Given the description of an element on the screen output the (x, y) to click on. 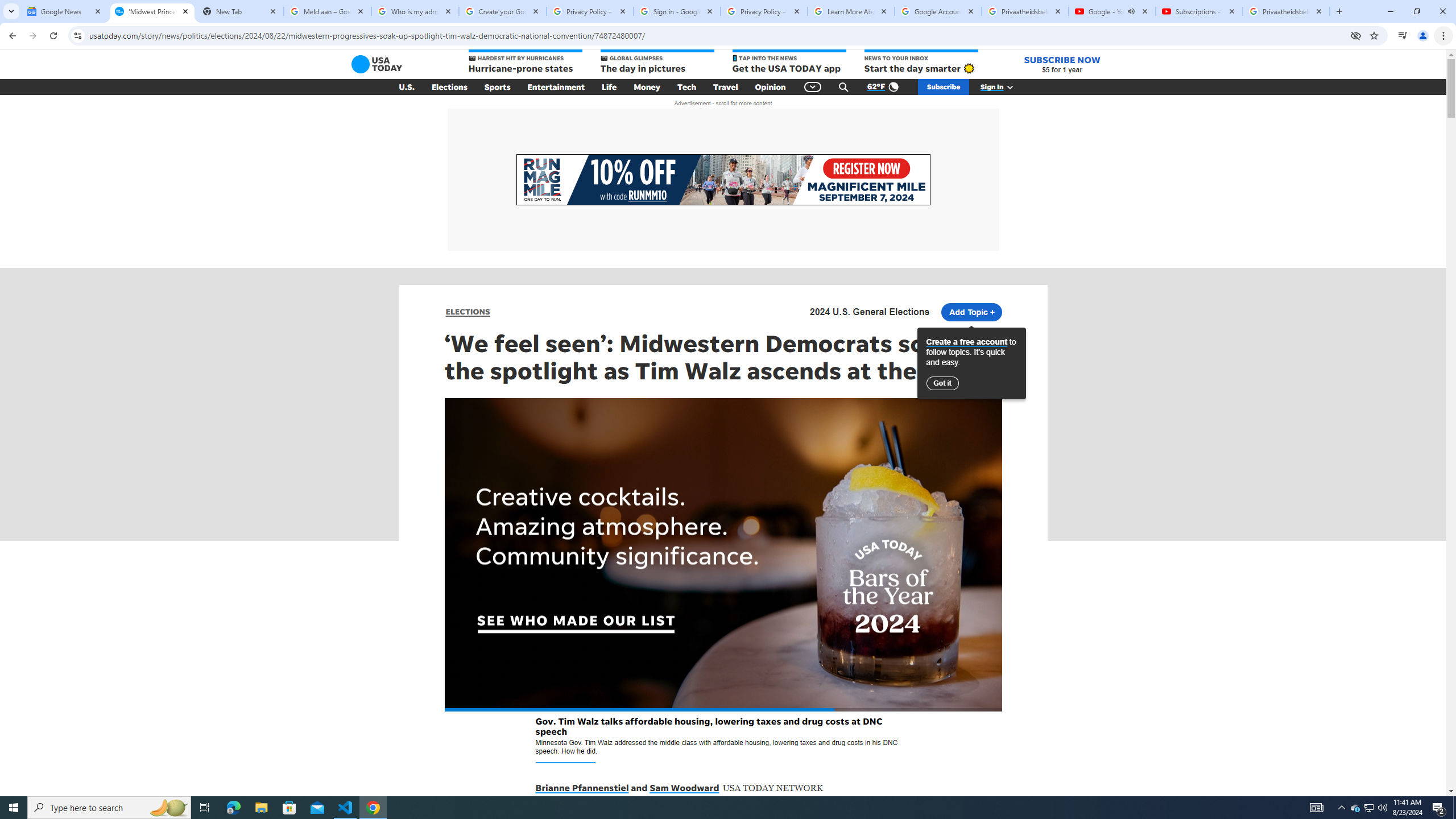
AutomationID: aw0 (722, 180)
Create your Google Account (502, 11)
Elections (449, 87)
Address and search bar (715, 35)
Chrome (1445, 35)
New Tab (239, 11)
Opinion (770, 87)
View site information (77, 35)
Life (609, 87)
Create a free account (966, 341)
Google News (64, 11)
Sign in - Google Accounts (676, 11)
Add Topic (970, 312)
